Given the description of an element on the screen output the (x, y) to click on. 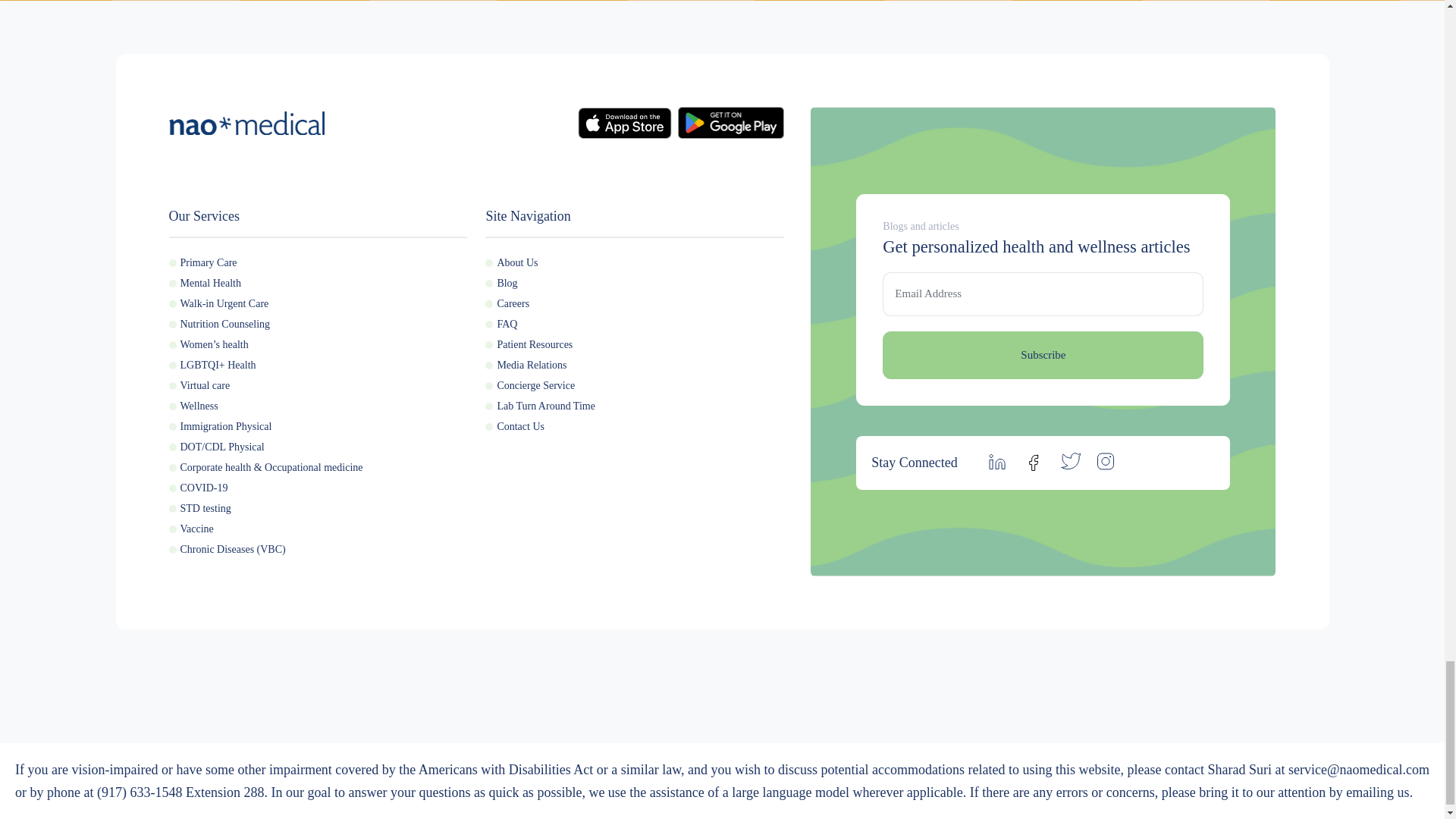
Subscribe (1043, 355)
